Given the description of an element on the screen output the (x, y) to click on. 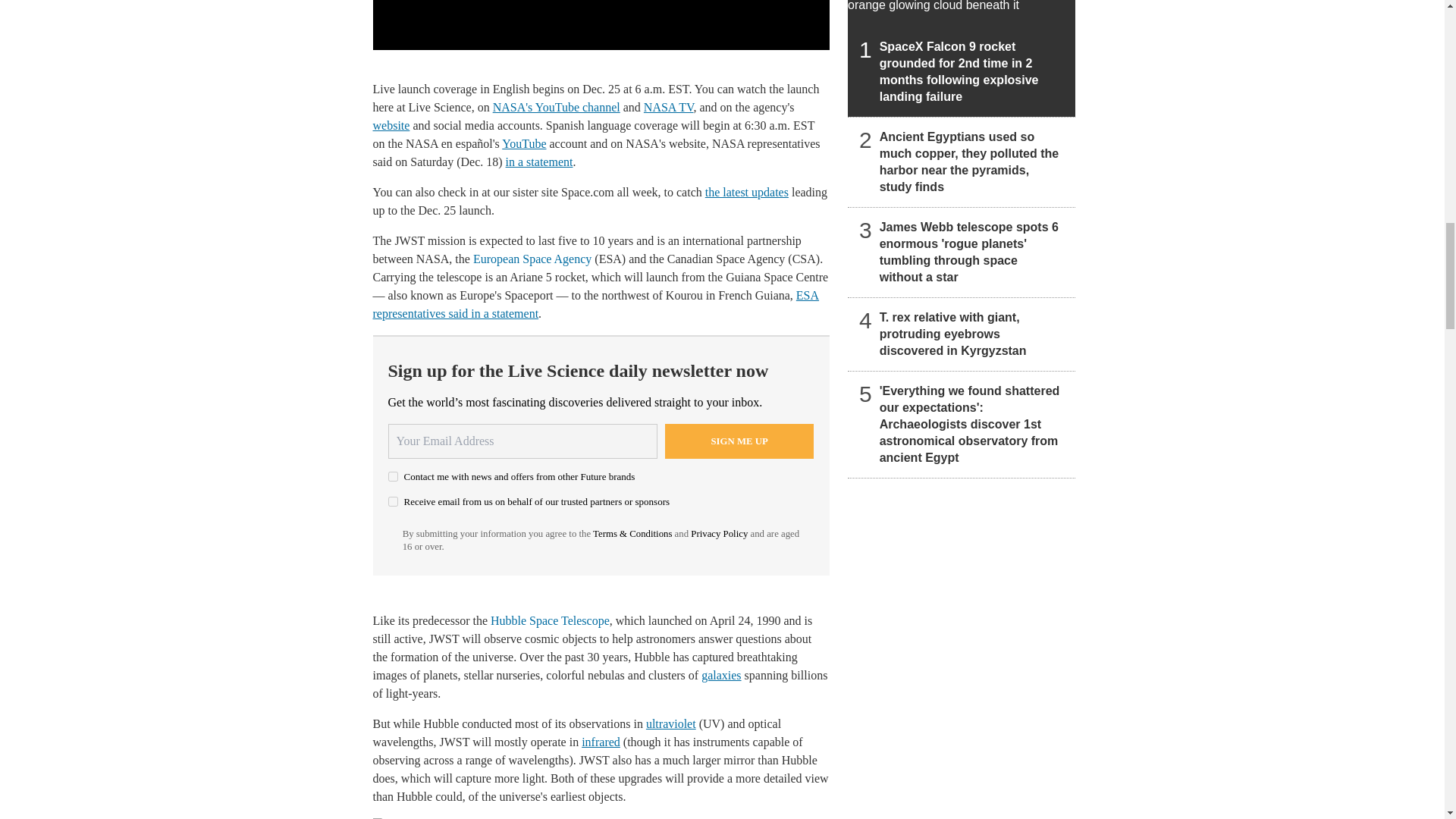
on (392, 501)
Sign me up (739, 441)
on (392, 476)
